Given the description of an element on the screen output the (x, y) to click on. 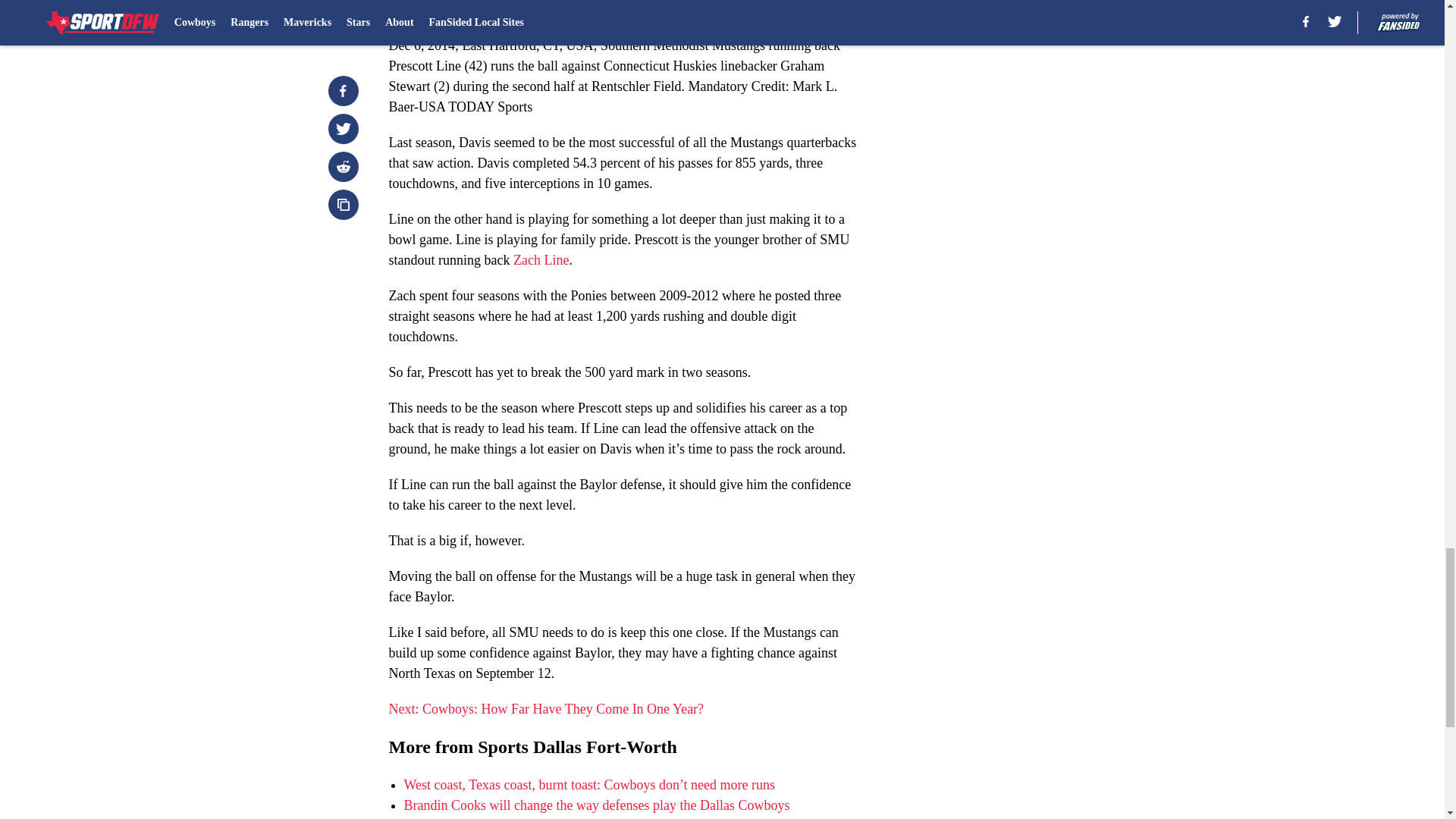
Next: Cowboys: How Far Have They Come In One Year? (545, 708)
Prescott Line (499, 9)
Zach Line (541, 259)
